Given the description of an element on the screen output the (x, y) to click on. 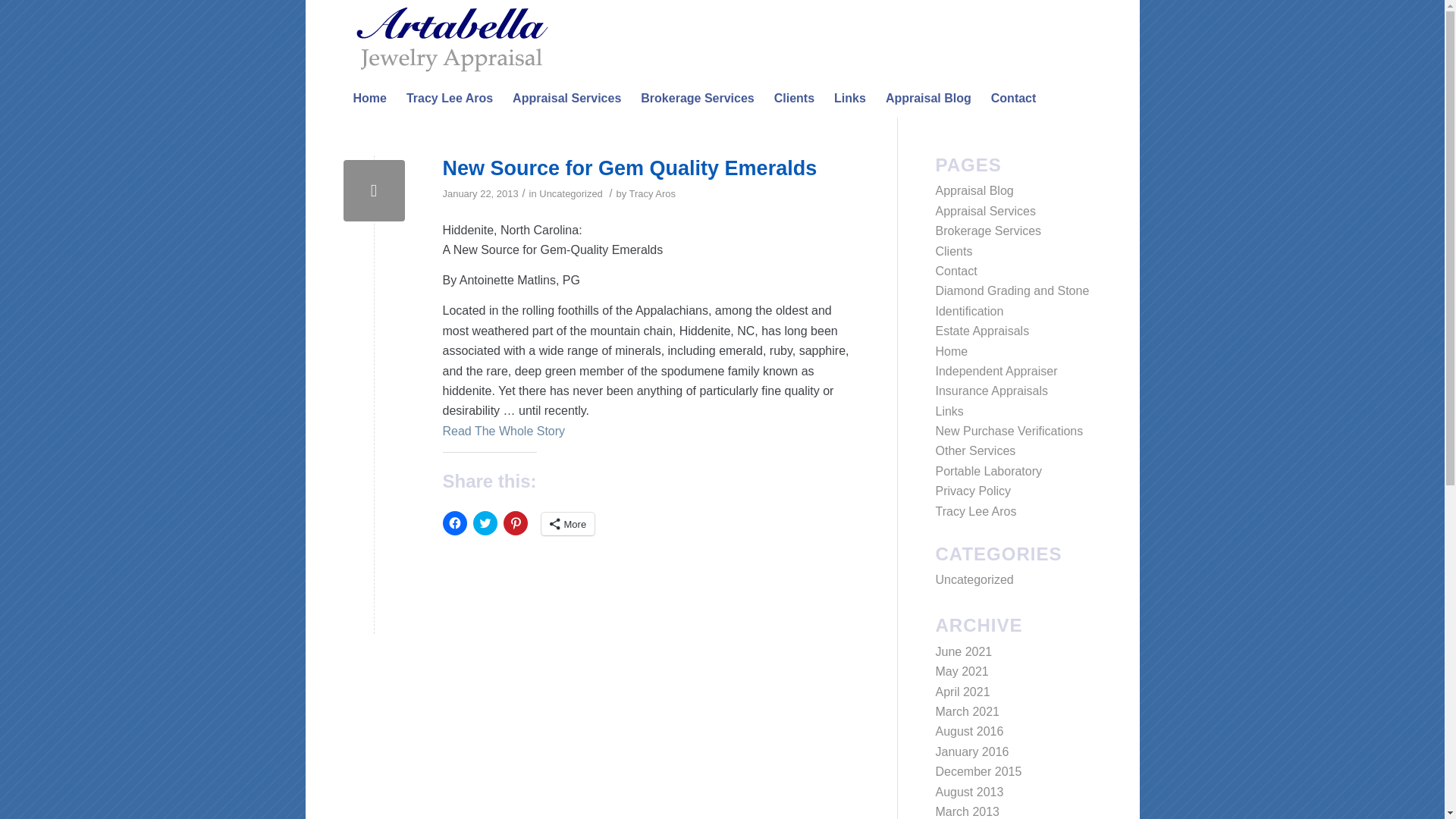
Permanent Link: New Source for Gem Quality Emeralds (629, 168)
Click to share on Facebook (454, 523)
Clients (794, 98)
Click to share on Pinterest (515, 523)
Appraisal Services (566, 98)
More (568, 523)
Tracy Aros (651, 193)
Click to share on Twitter (485, 523)
Tracy Lee Aros (449, 98)
Home (369, 98)
New Source for Gem Quality Emeralds (629, 168)
Posts by Tracy Aros (651, 193)
New Source for Gem Quality Emeralds (373, 190)
Uncategorized (570, 193)
Brokerage Services (696, 98)
